Given the description of an element on the screen output the (x, y) to click on. 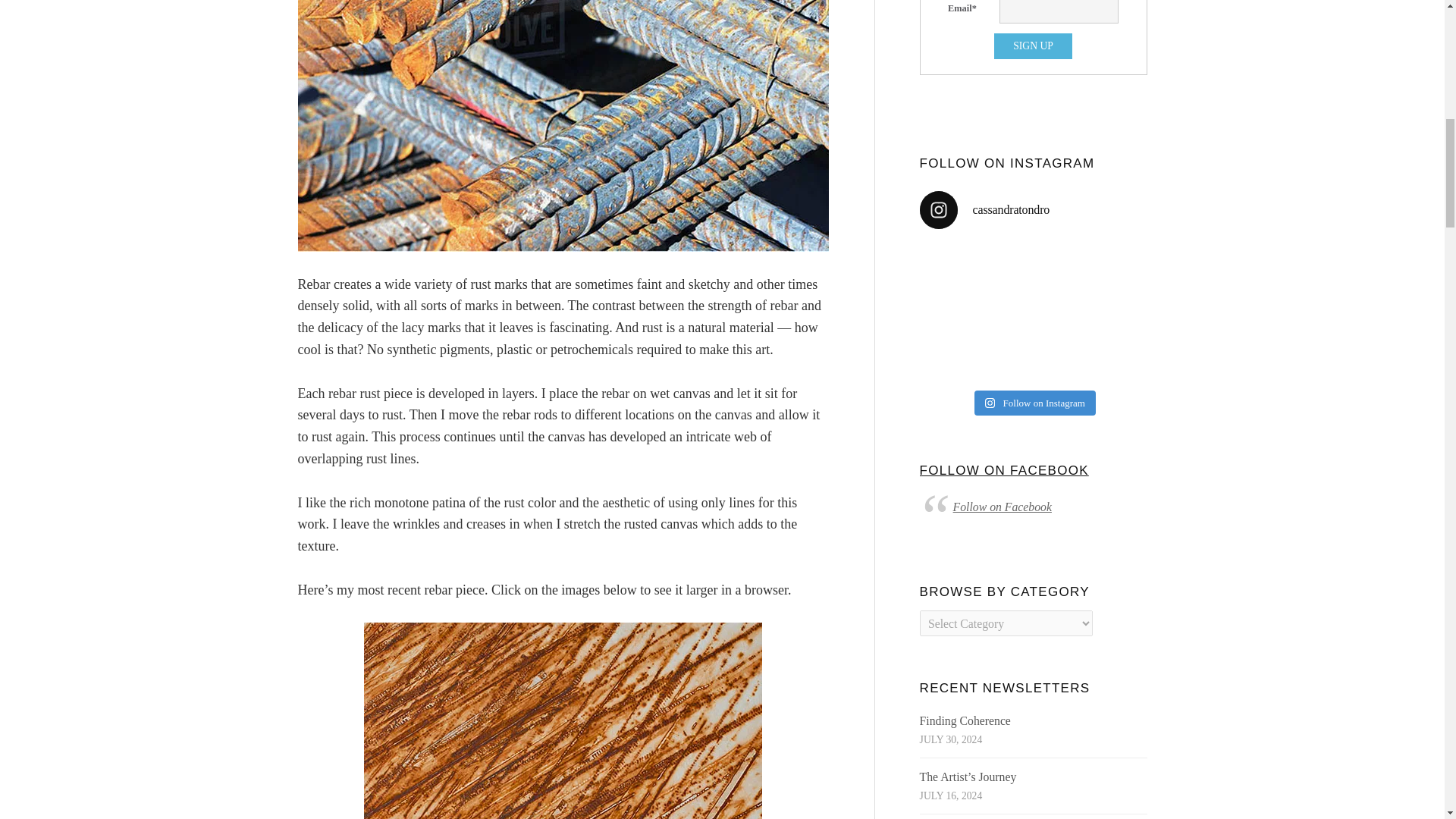
SIGN UP (1032, 45)
